Given the description of an element on the screen output the (x, y) to click on. 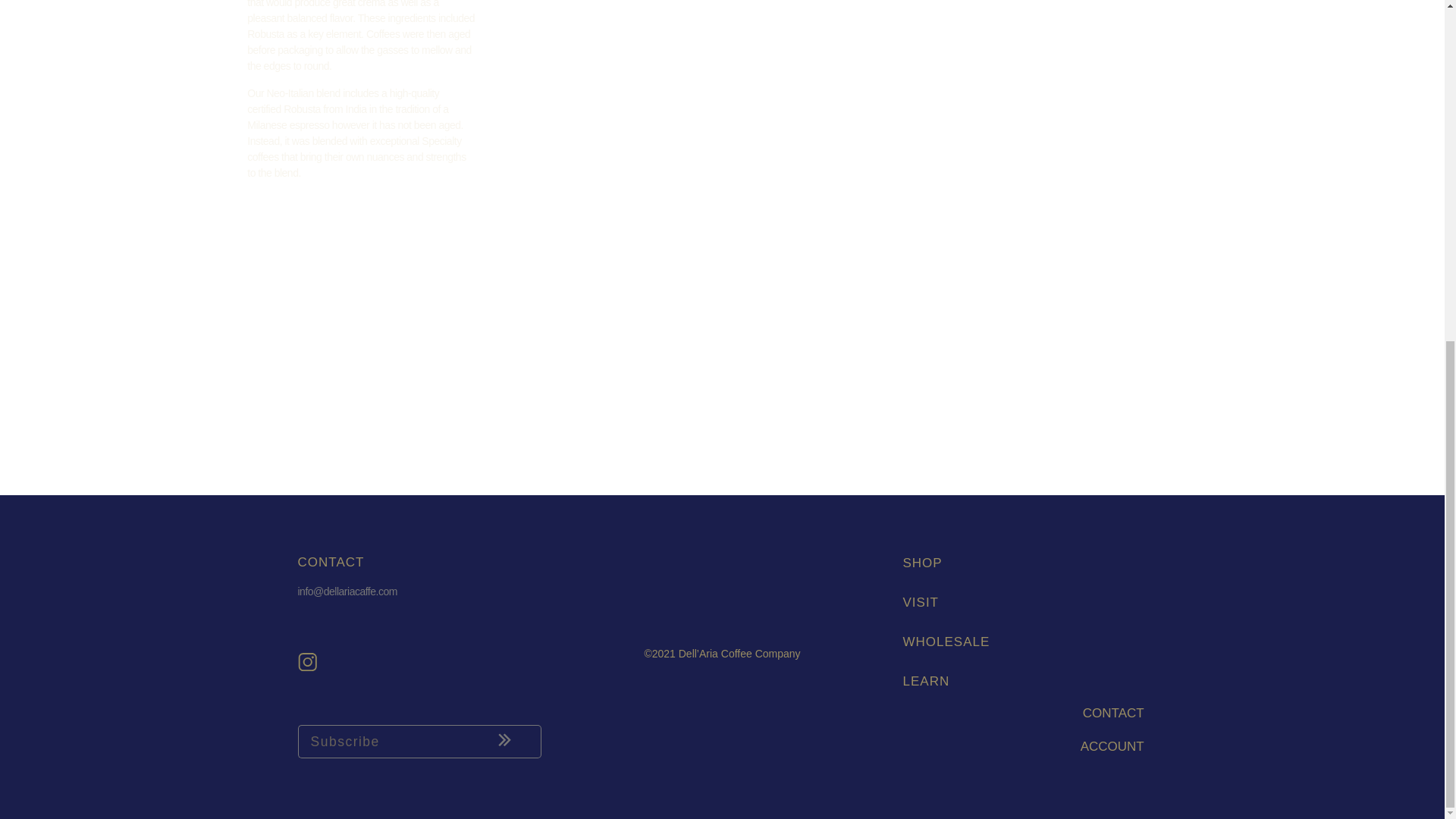
WHOLESALE (1022, 642)
CONTACT (1113, 712)
VISIT (1022, 602)
SHOP (1022, 563)
ACCOUNT (1112, 746)
LEARN (1022, 681)
